Given the description of an element on the screen output the (x, y) to click on. 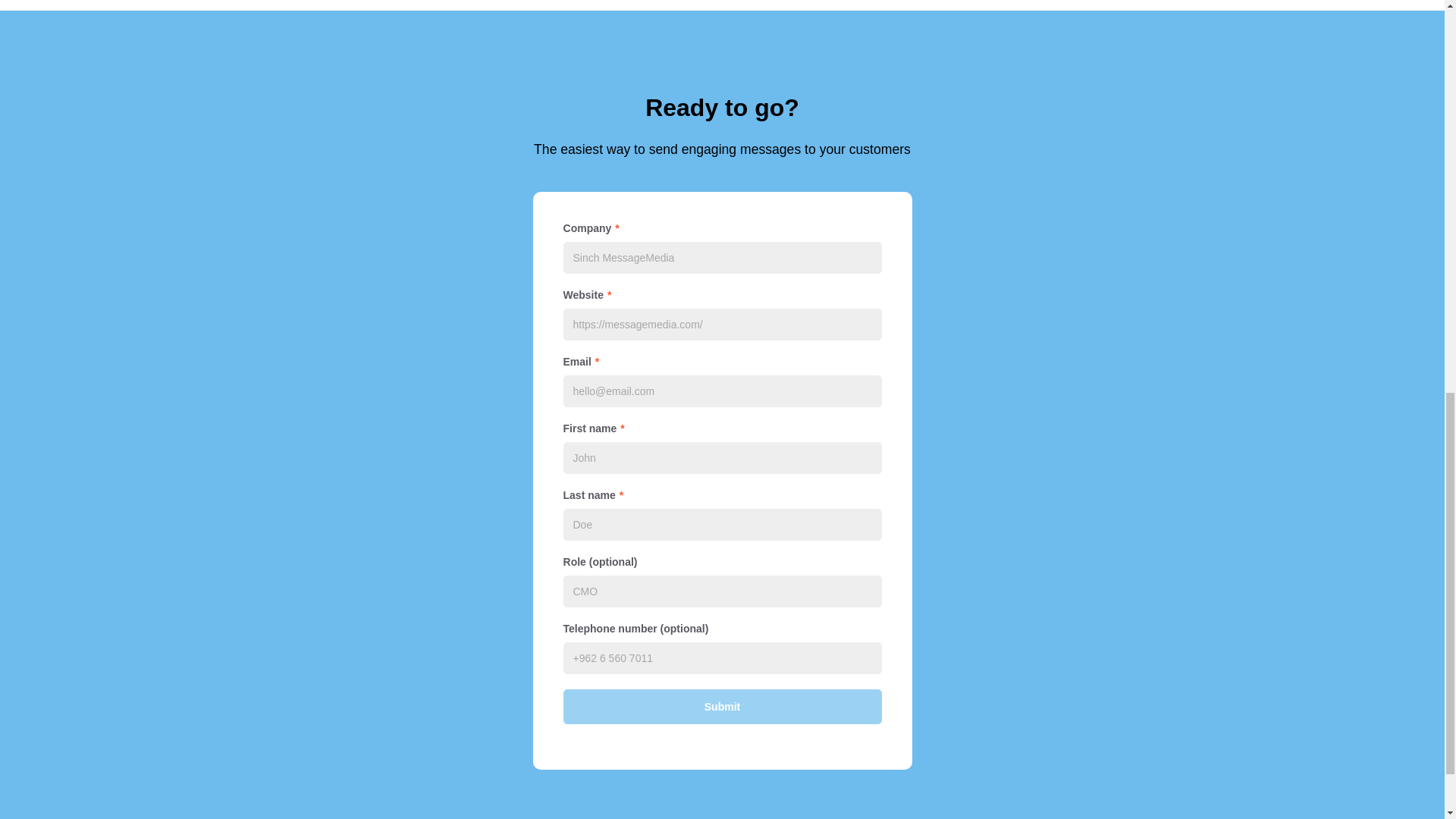
Submit (721, 706)
